Given the description of an element on the screen output the (x, y) to click on. 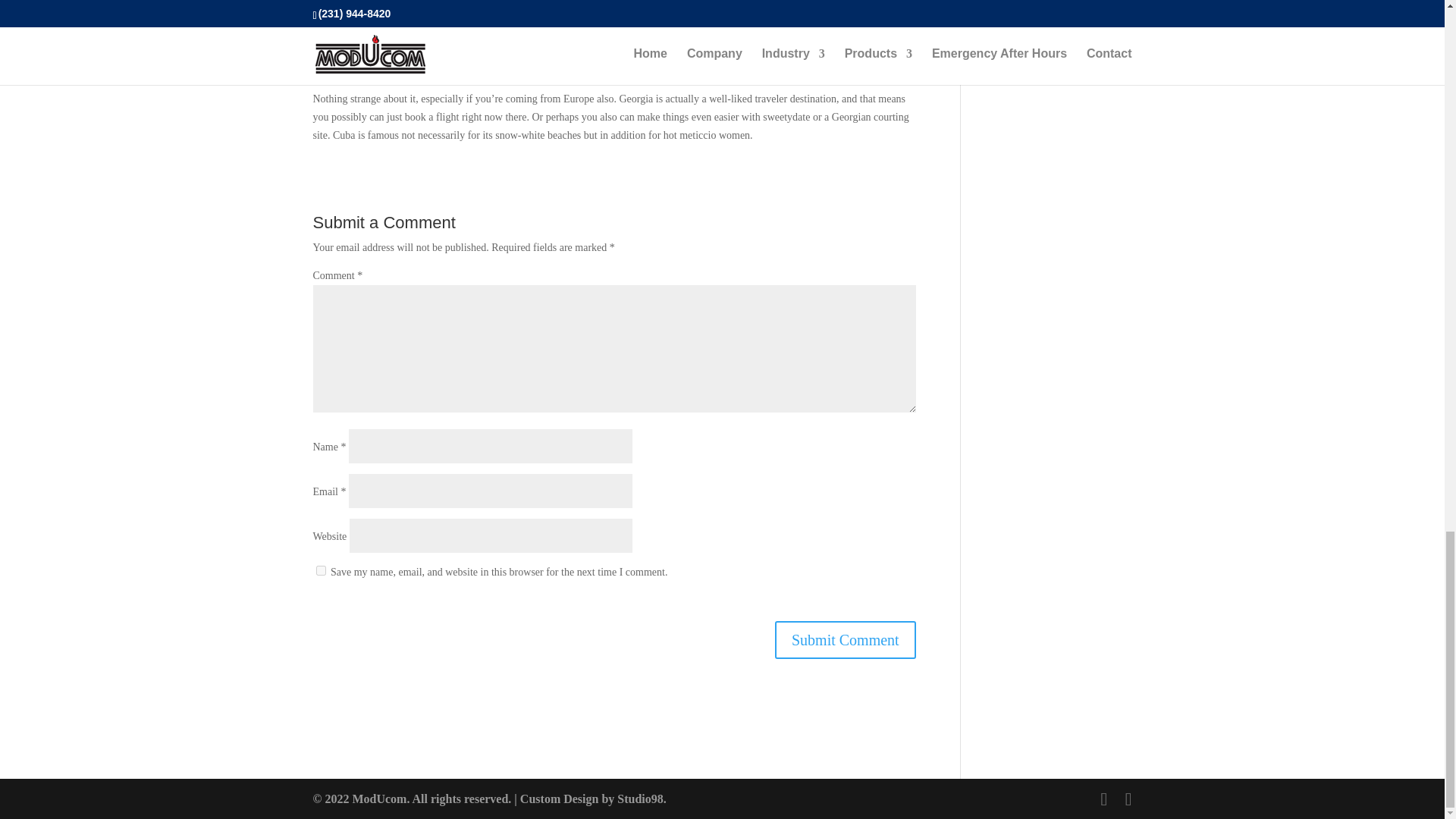
Submit Comment (844, 639)
yes (319, 570)
Submit Comment (844, 639)
